Given the description of an element on the screen output the (x, y) to click on. 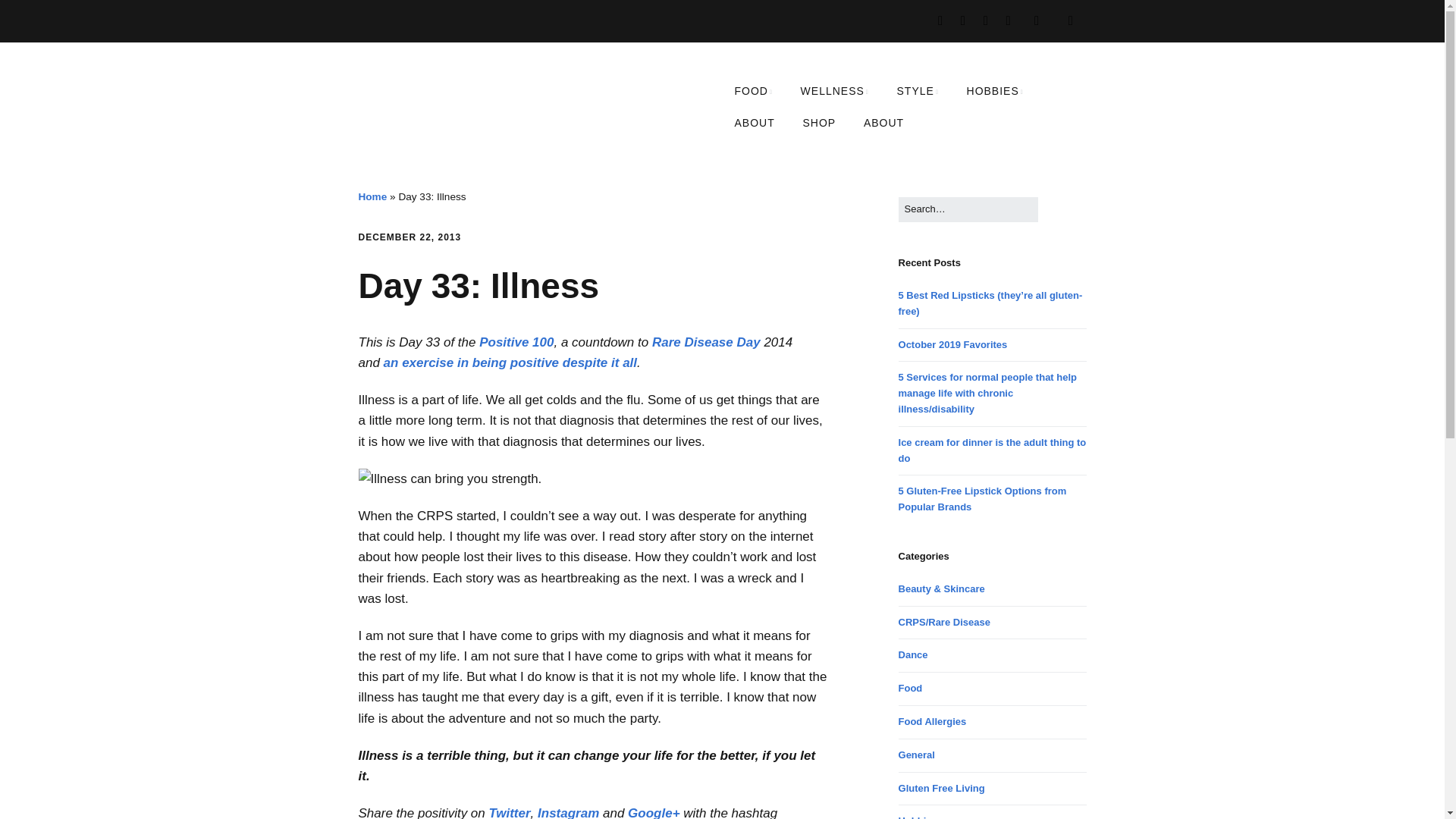
WELLNESS (834, 91)
The Positive 100 (510, 362)
STYLE (917, 91)
ABOUT (883, 123)
HOBBIES (995, 91)
The Positive 100 (516, 341)
ABOUT (754, 123)
FOOD (753, 91)
Press Enter to submit your search (968, 209)
SHOP (818, 123)
